Given the description of an element on the screen output the (x, y) to click on. 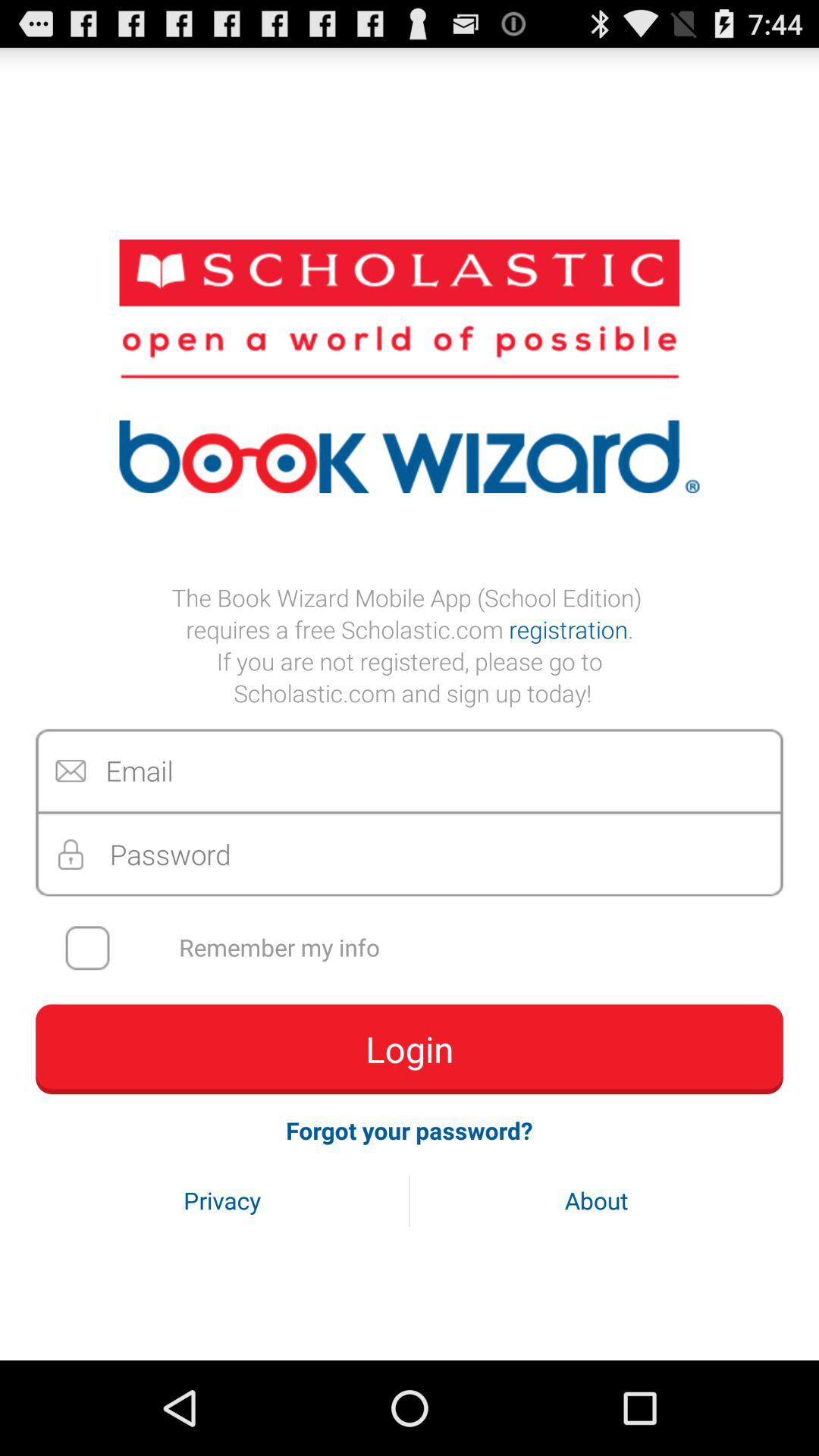
jump to the privacy icon (221, 1200)
